Given the description of an element on the screen output the (x, y) to click on. 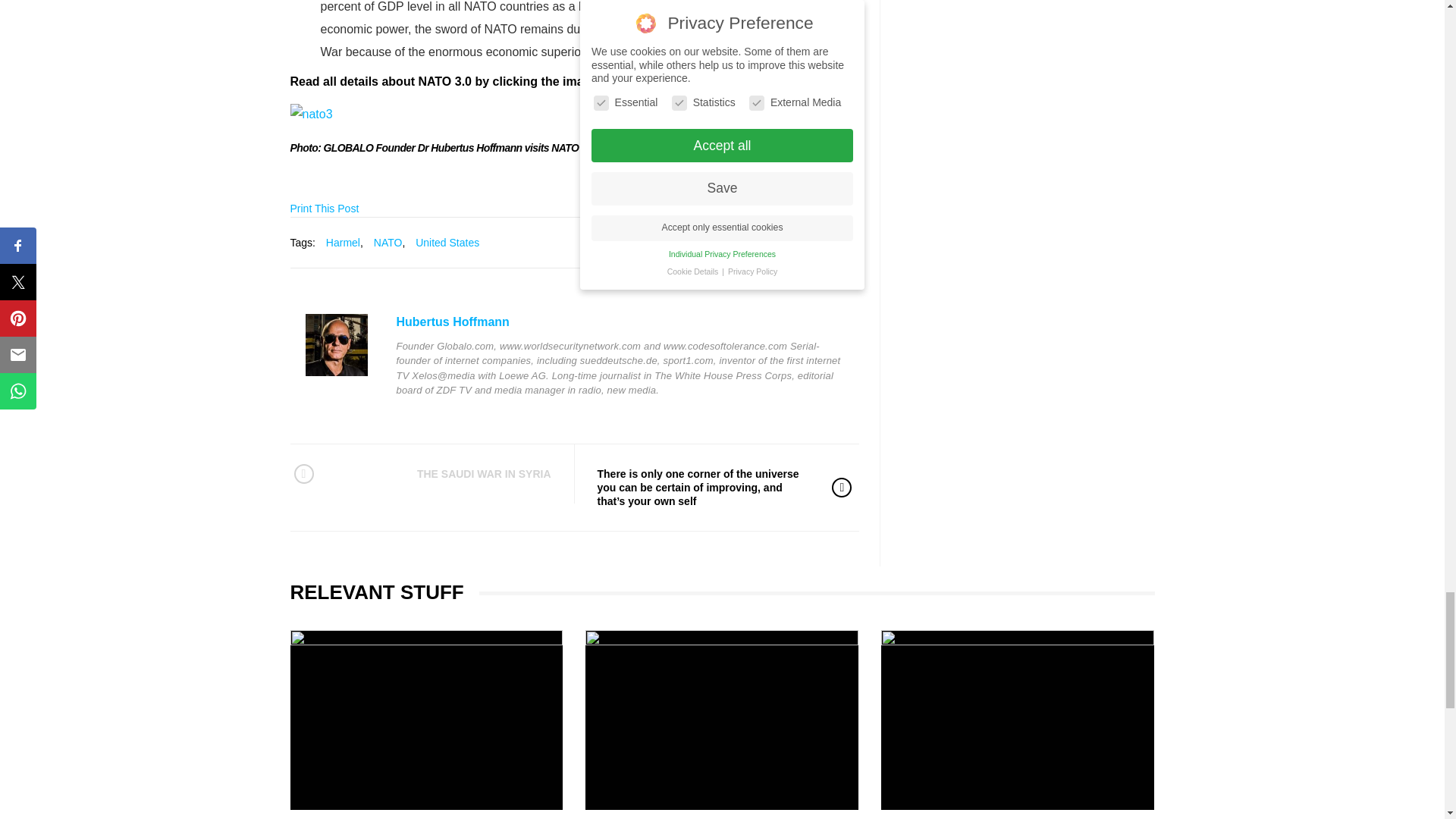
Print This Post (323, 208)
Page 6 (574, 78)
